Given the description of an element on the screen output the (x, y) to click on. 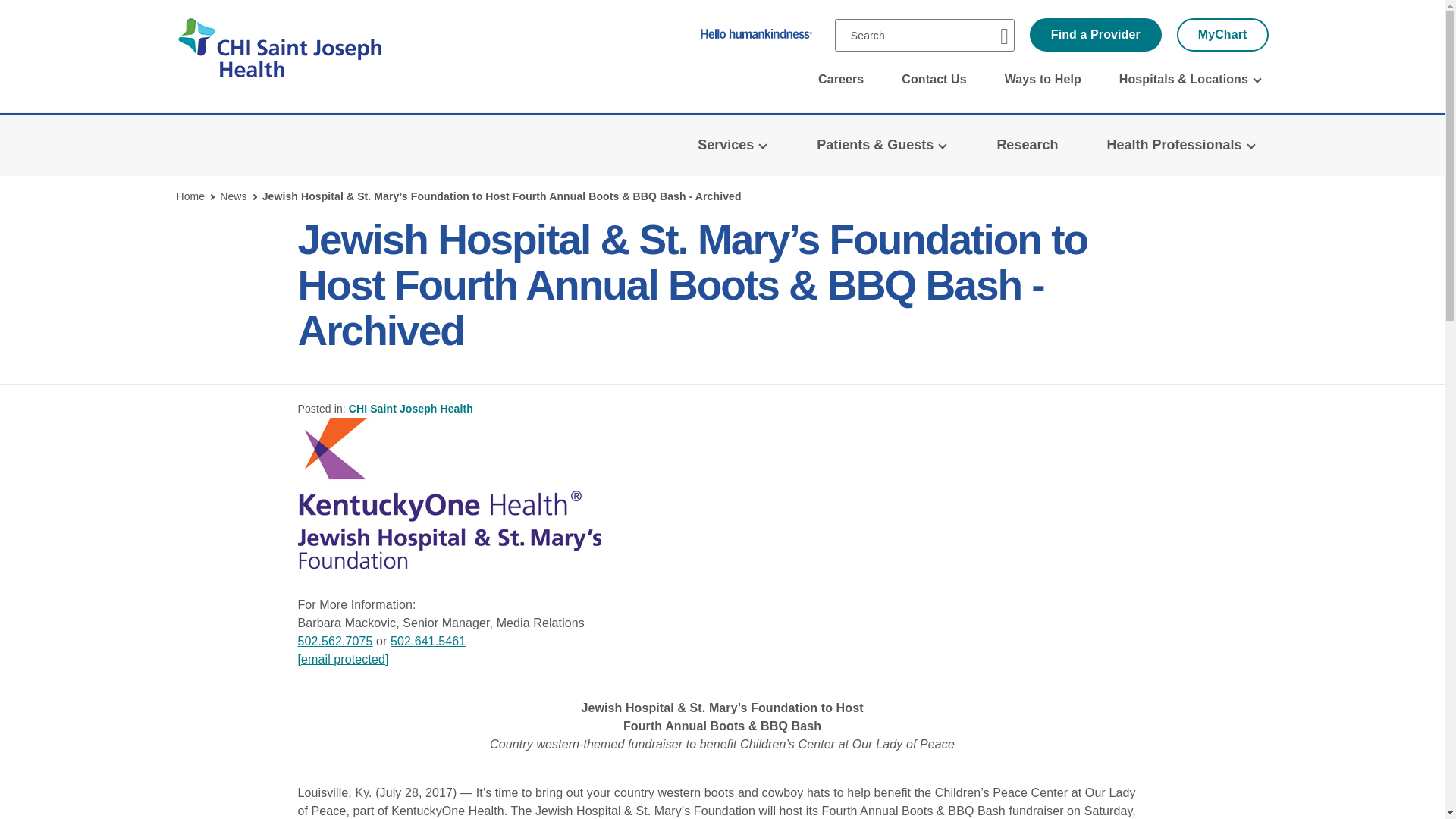
MyChart (1222, 34)
Careers (840, 79)
Contact Us (933, 79)
Find a Provider (1095, 34)
Ways to Help (1042, 79)
